Given the description of an element on the screen output the (x, y) to click on. 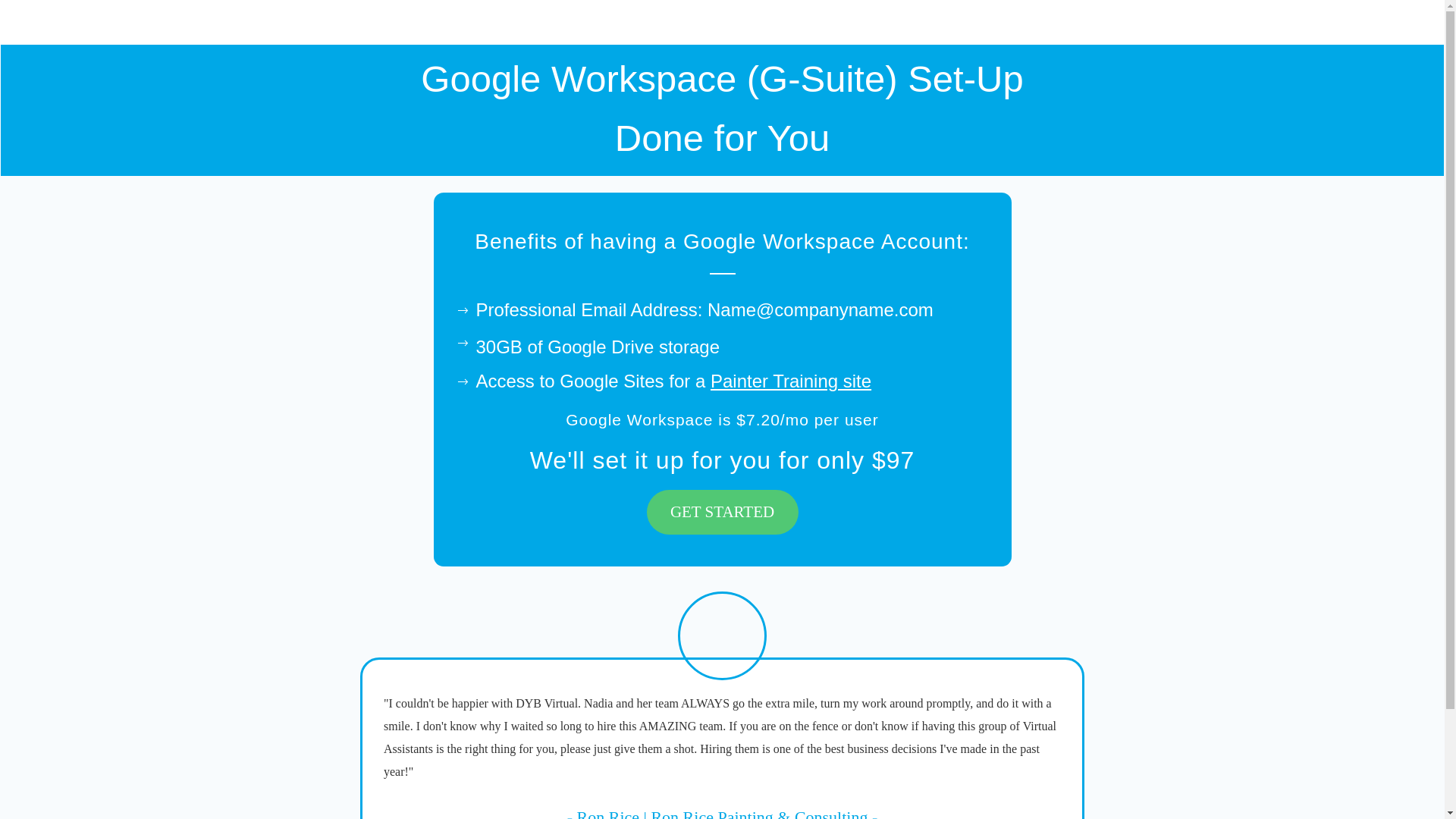
DYB Virtual Logo copy 2 (63, 22)
GET STARTED (721, 511)
30GB of Google Drive storage (598, 346)
Access to Google Sites for a Painter Training site (674, 381)
DYB Virtual Testimonial Ron Rice (721, 635)
